Given the description of an element on the screen output the (x, y) to click on. 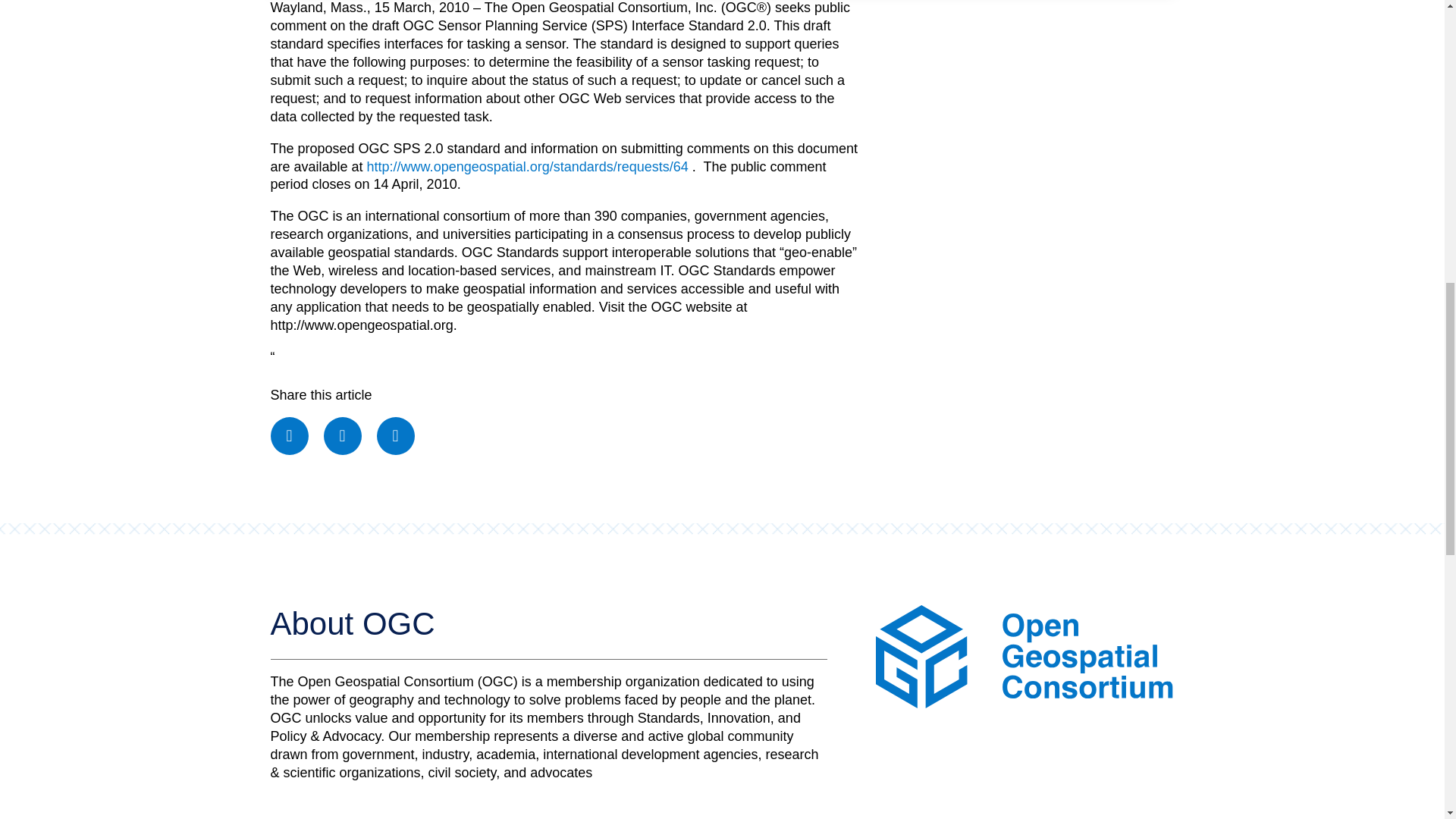
LinkedIn (395, 435)
Twitter (342, 435)
Facebook (288, 435)
